Given the description of an element on the screen output the (x, y) to click on. 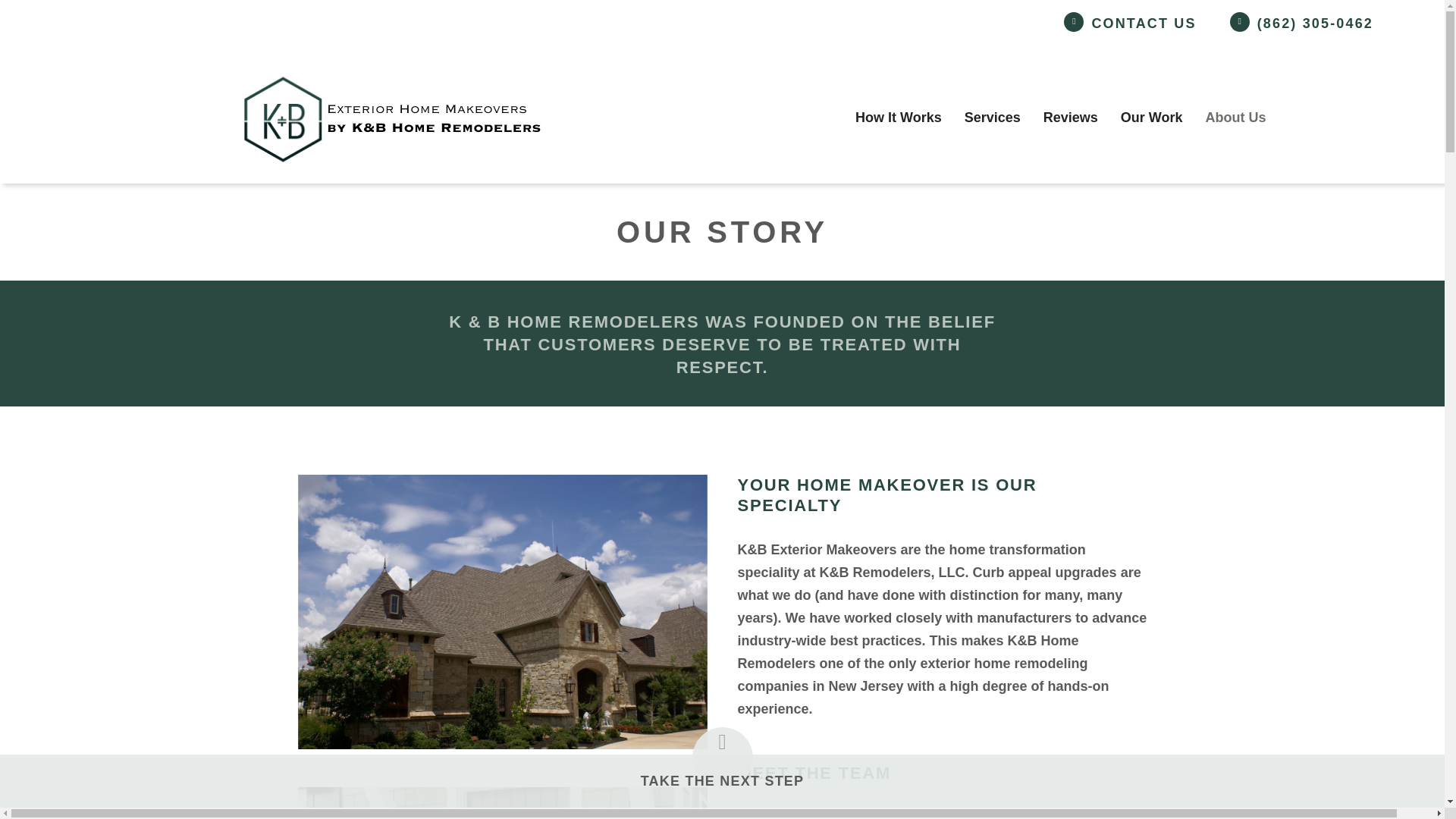
CONTACT US (1142, 23)
Reviews (1070, 117)
Our Work (1152, 117)
How It Works (898, 117)
Horacio Kusnier (844, 814)
DSC01493 (501, 611)
Services (991, 117)
About Us (1236, 117)
Olivier Bejarano (980, 814)
